Given the description of an element on the screen output the (x, y) to click on. 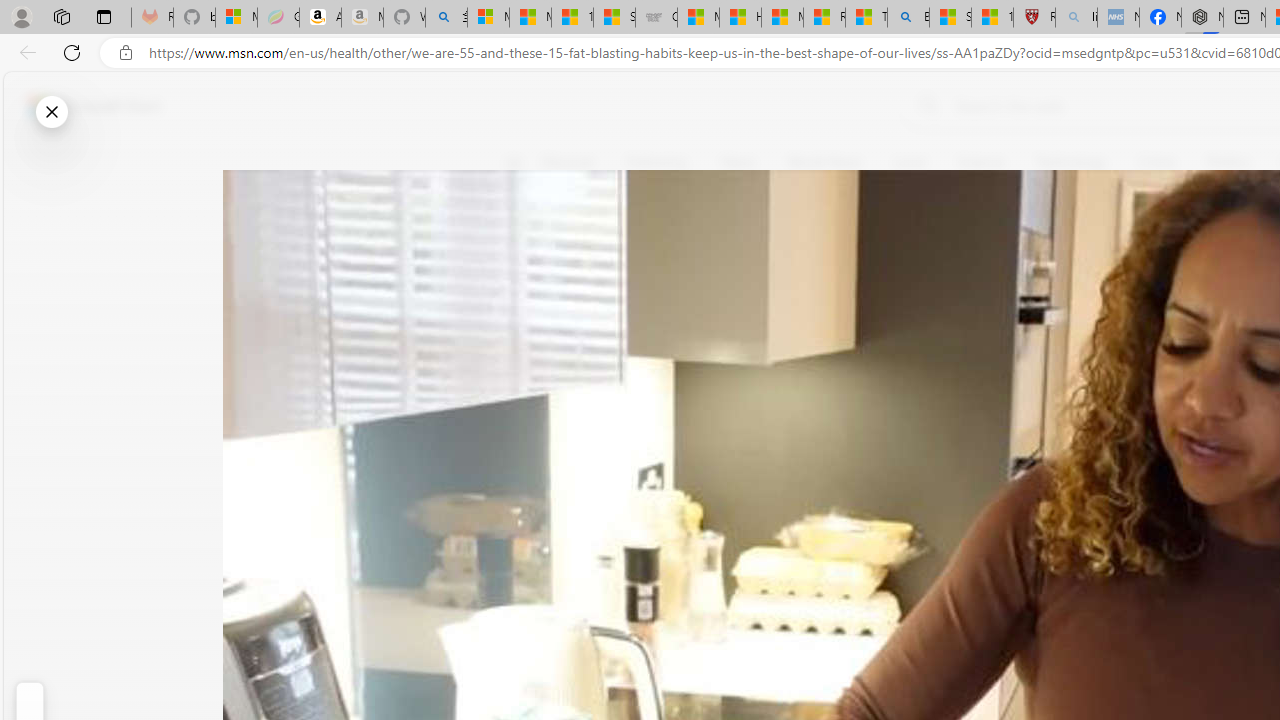
Recipes - MSN (823, 17)
list of asthma inhalers uk - Search - Sleeping (1076, 17)
Following (658, 162)
Web search (924, 105)
NCL Adult Asthma Inhaler Choice Guideline - Sleeping (1118, 17)
Skip to content (86, 105)
Discover (568, 162)
Follow (909, 258)
6 Like (525, 244)
